Given the description of an element on the screen output the (x, y) to click on. 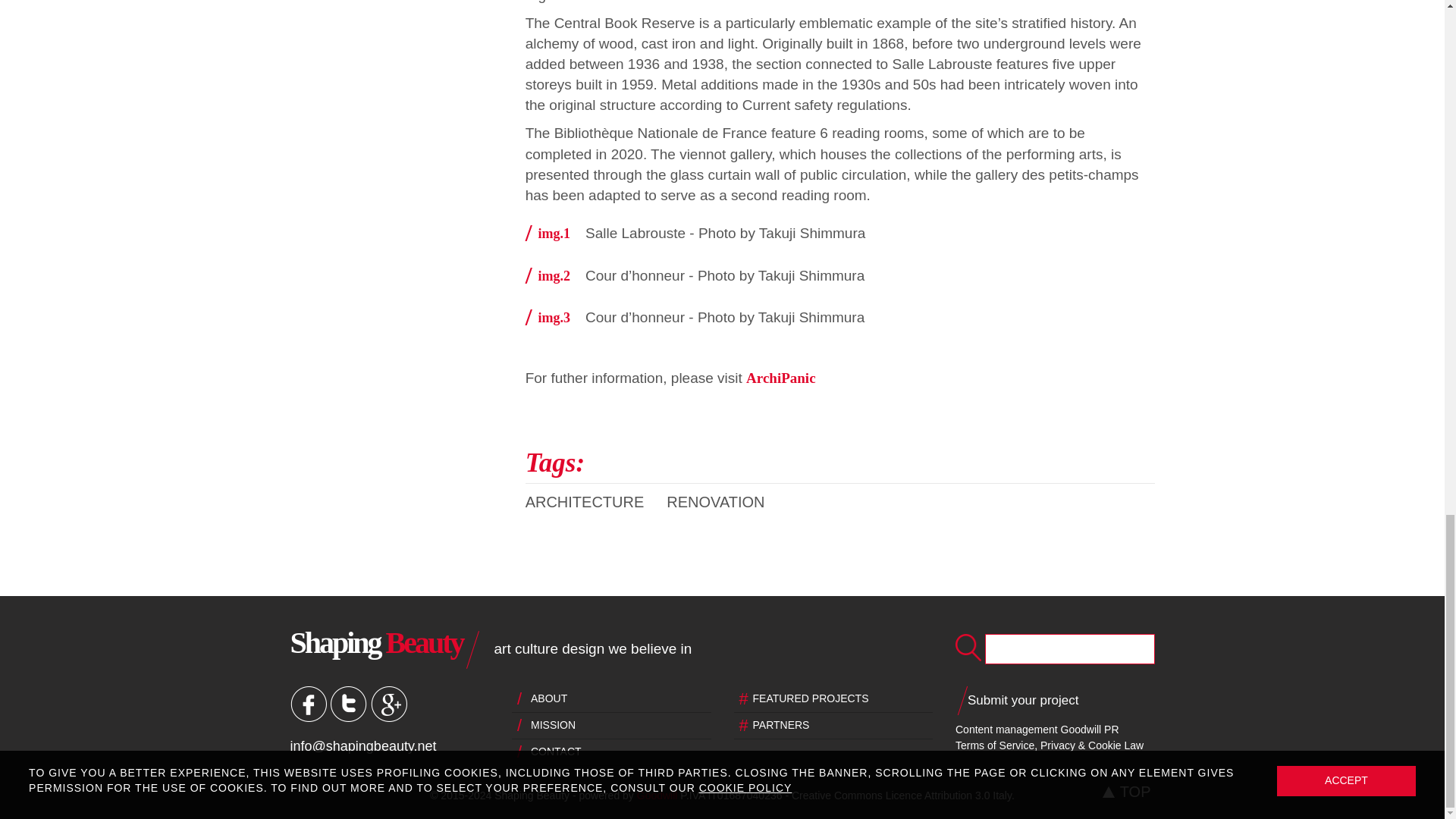
RENOVATION (726, 502)
Tag Architecture (595, 502)
ARCHITECTURE (595, 502)
img.3 (555, 317)
img.1 (555, 233)
img.2 (555, 275)
ArchiPanic (780, 377)
Tag Renovation (726, 502)
